Given the description of an element on the screen output the (x, y) to click on. 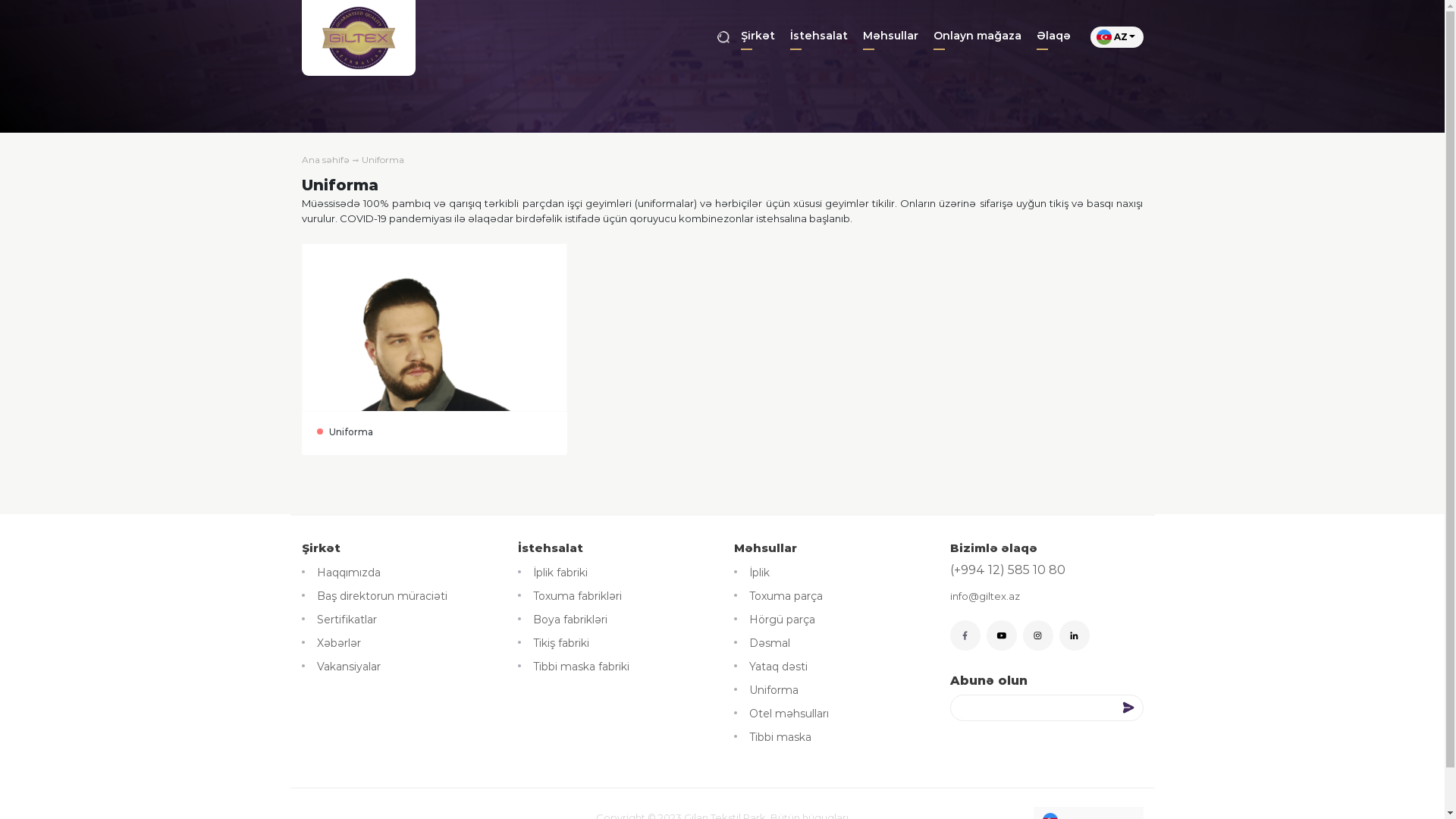
Sertifikatlar Element type: text (338, 619)
(+994 12) 585 10 80 Element type: text (1006, 569)
Tibbi maska Element type: text (772, 736)
Uniforma Element type: text (381, 159)
info@giltex.az Element type: text (984, 595)
AZ Element type: text (1116, 36)
Uniforma Element type: text (434, 349)
Vakansiyalar Element type: text (340, 666)
